Given the description of an element on the screen output the (x, y) to click on. 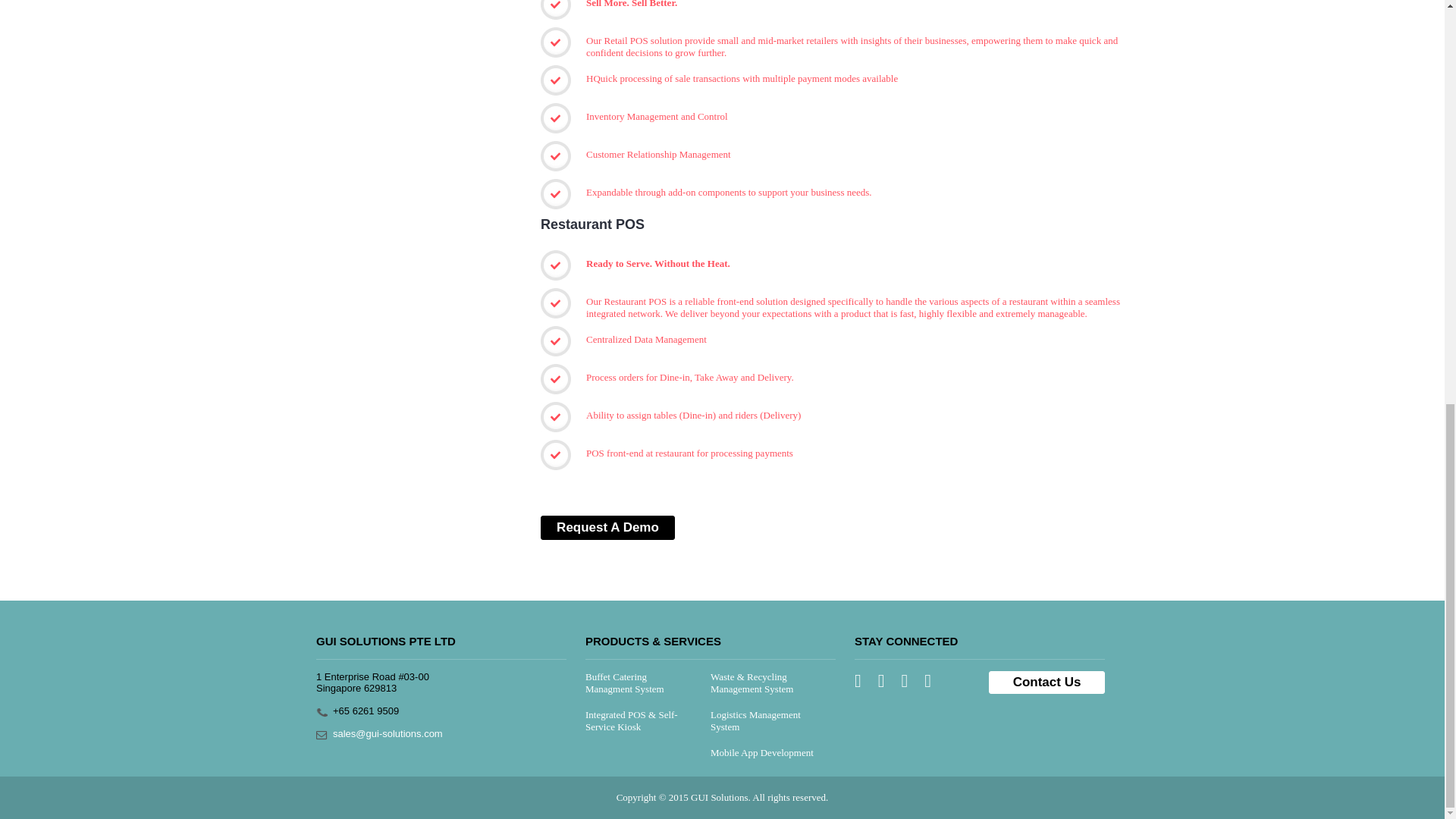
Request A Demo (607, 527)
Request A Demo (607, 527)
Contact Us (1046, 681)
Mobile App Development (761, 752)
Buffet Catering Managment System (624, 682)
Logistics Management System (755, 720)
Contact Us (1046, 681)
